Given the description of an element on the screen output the (x, y) to click on. 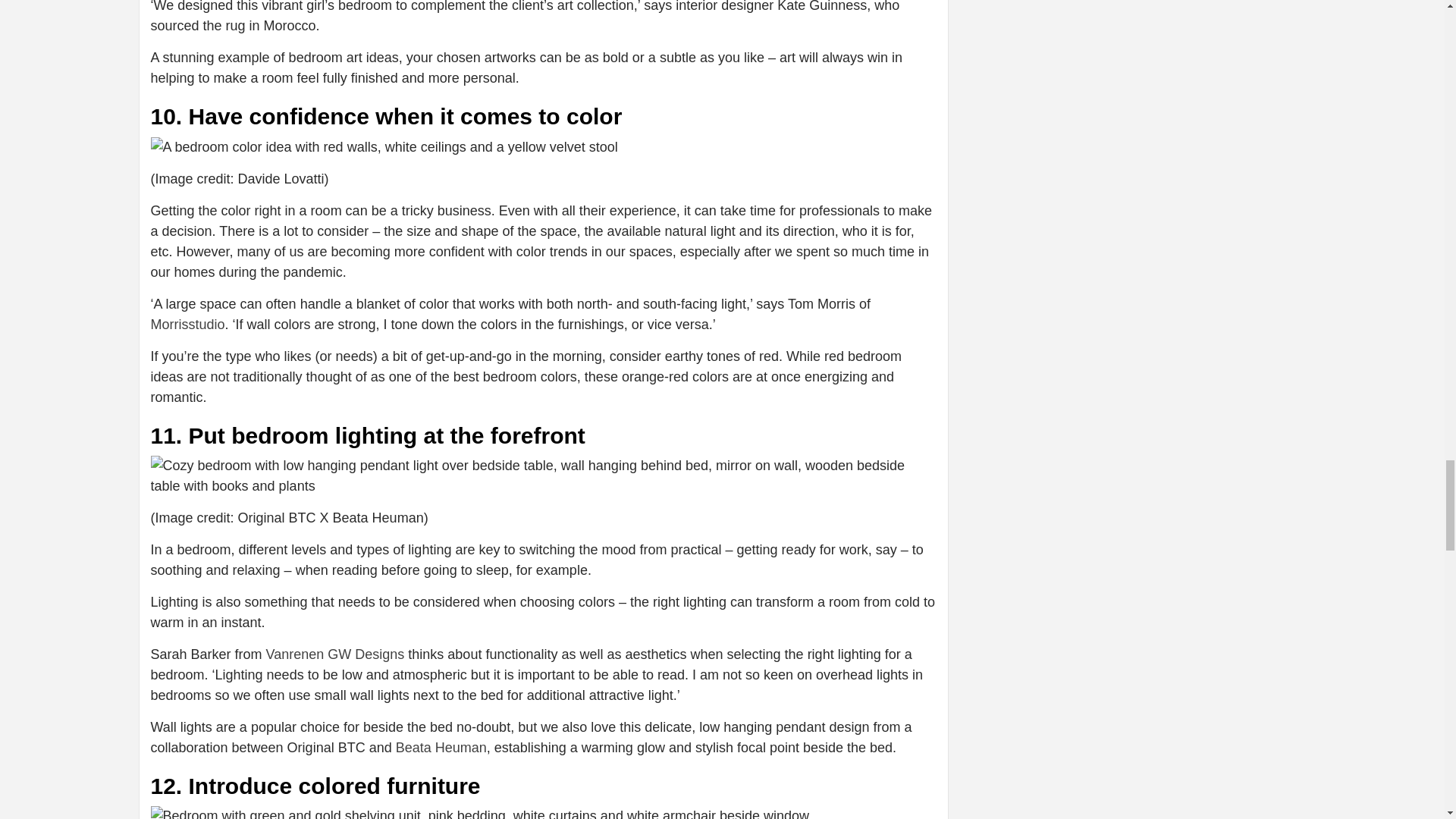
Vanrenen GW Designs (335, 654)
Morrisstudio (186, 324)
Beata Heuman (441, 747)
